Given the description of an element on the screen output the (x, y) to click on. 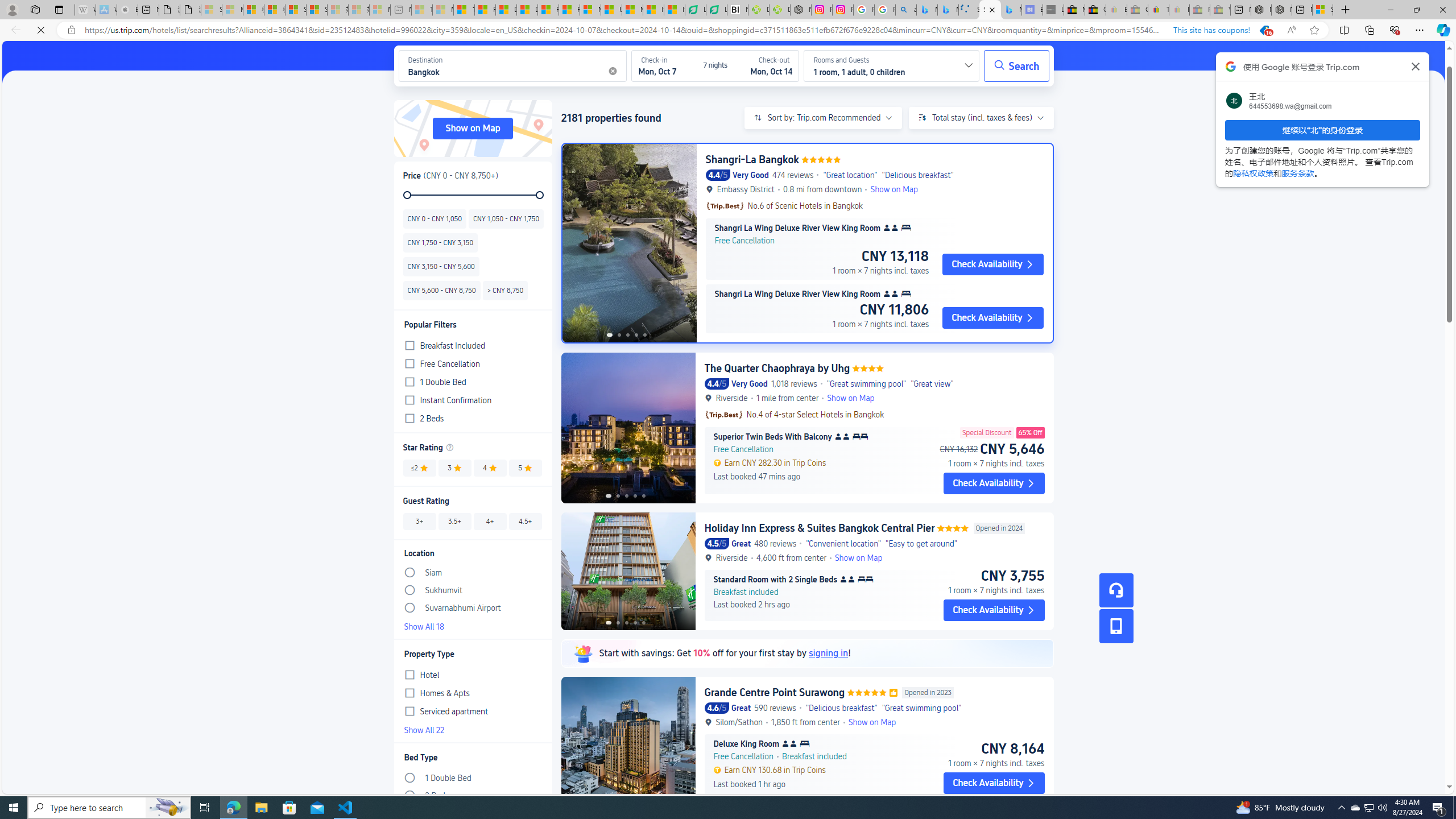
App (1116, 625)
Show on Map (472, 128)
Threats and offensive language policy | eBay (1157, 9)
Microsoft account | Account Checkup - Sleeping (379, 9)
Check-inMon, Oct 77 nightsCheck-outMon, Oct 147 nights (715, 65)
Sign in to your Microsoft account - Sleeping (211, 9)
Microsoft Services Agreement - Sleeping (231, 9)
